Given the description of an element on the screen output the (x, y) to click on. 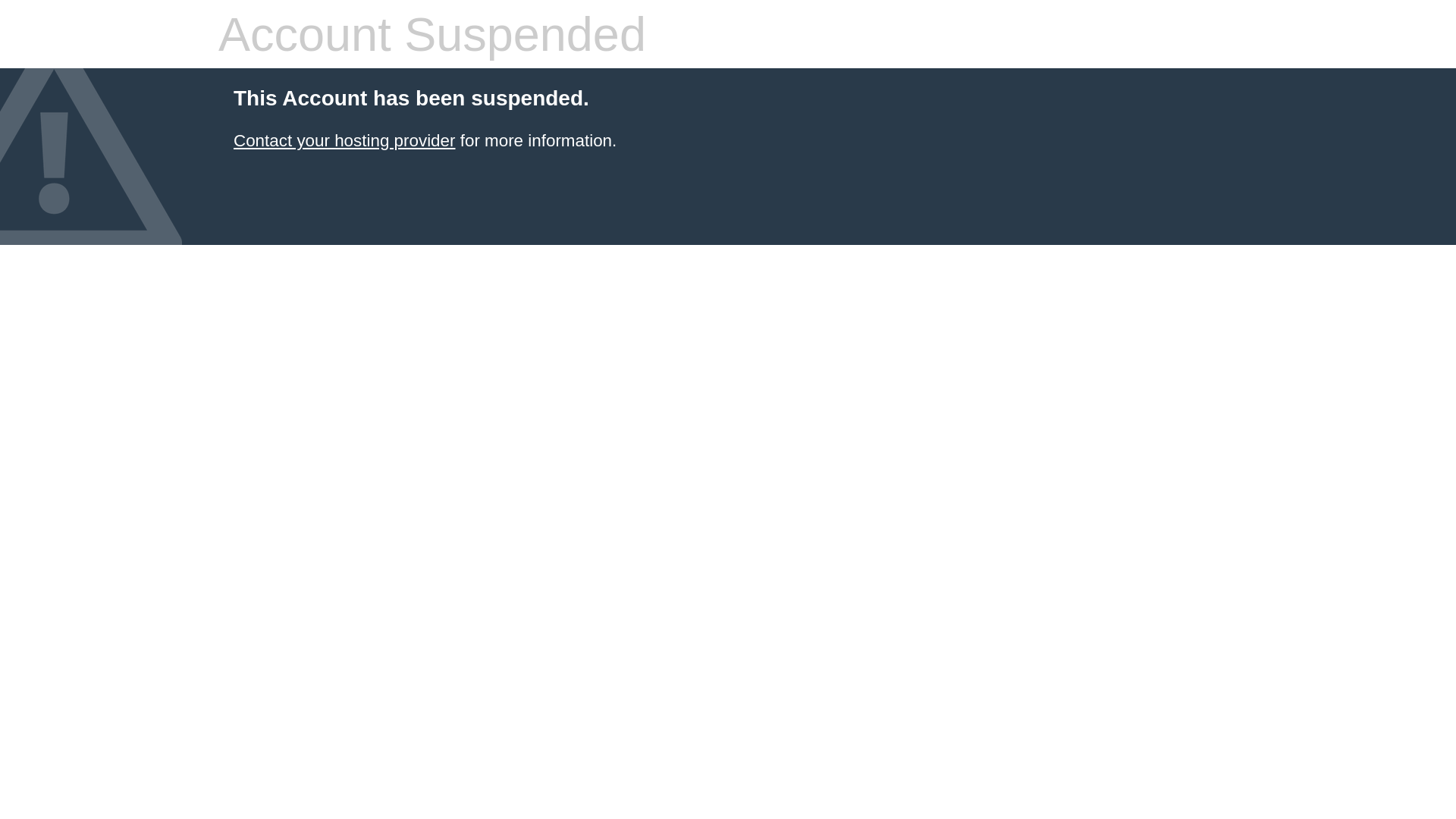
Contact your hosting provider Element type: text (344, 140)
